Given the description of an element on the screen output the (x, y) to click on. 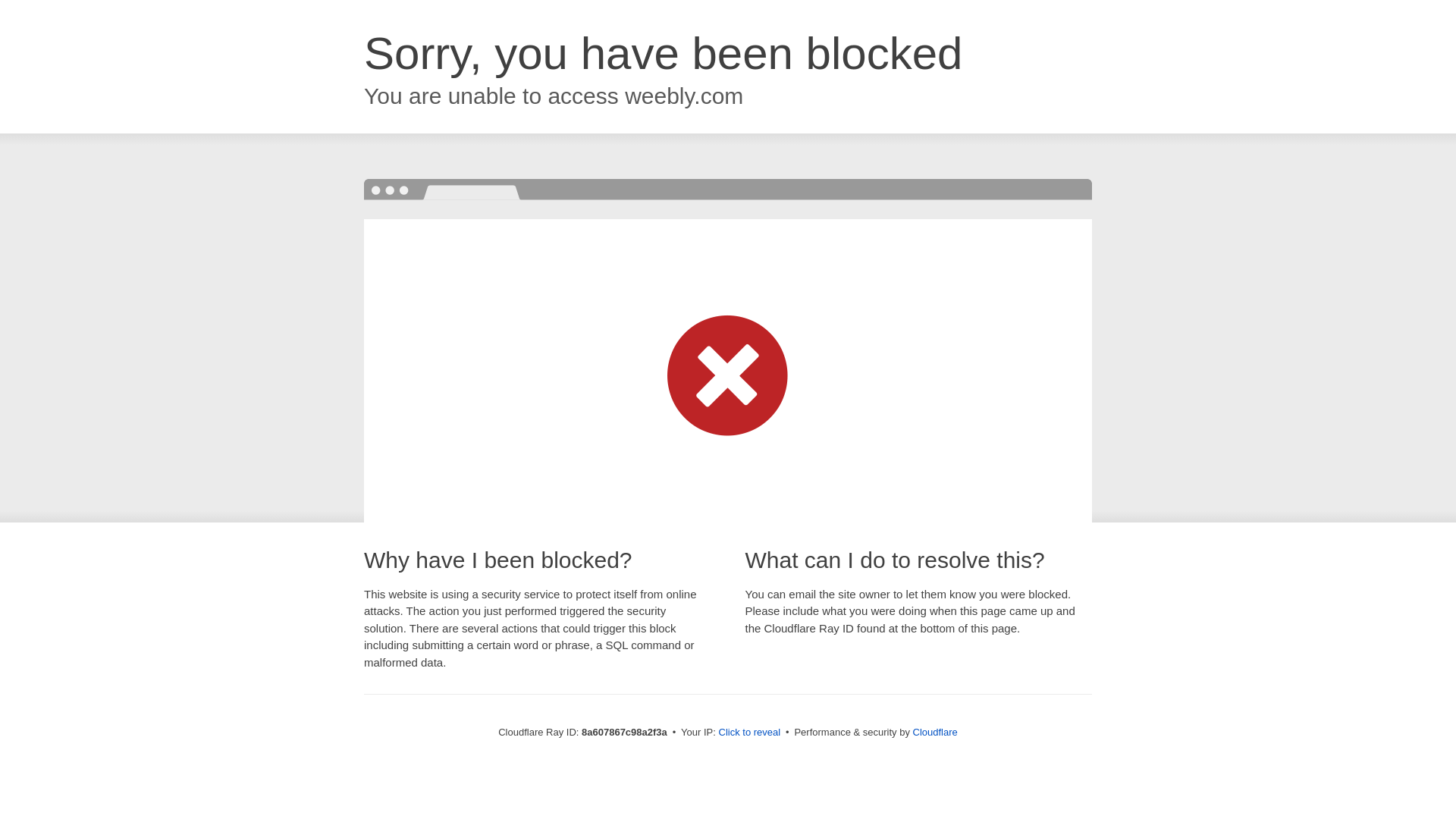
Cloudflare (935, 731)
Click to reveal (749, 732)
